Given the description of an element on the screen output the (x, y) to click on. 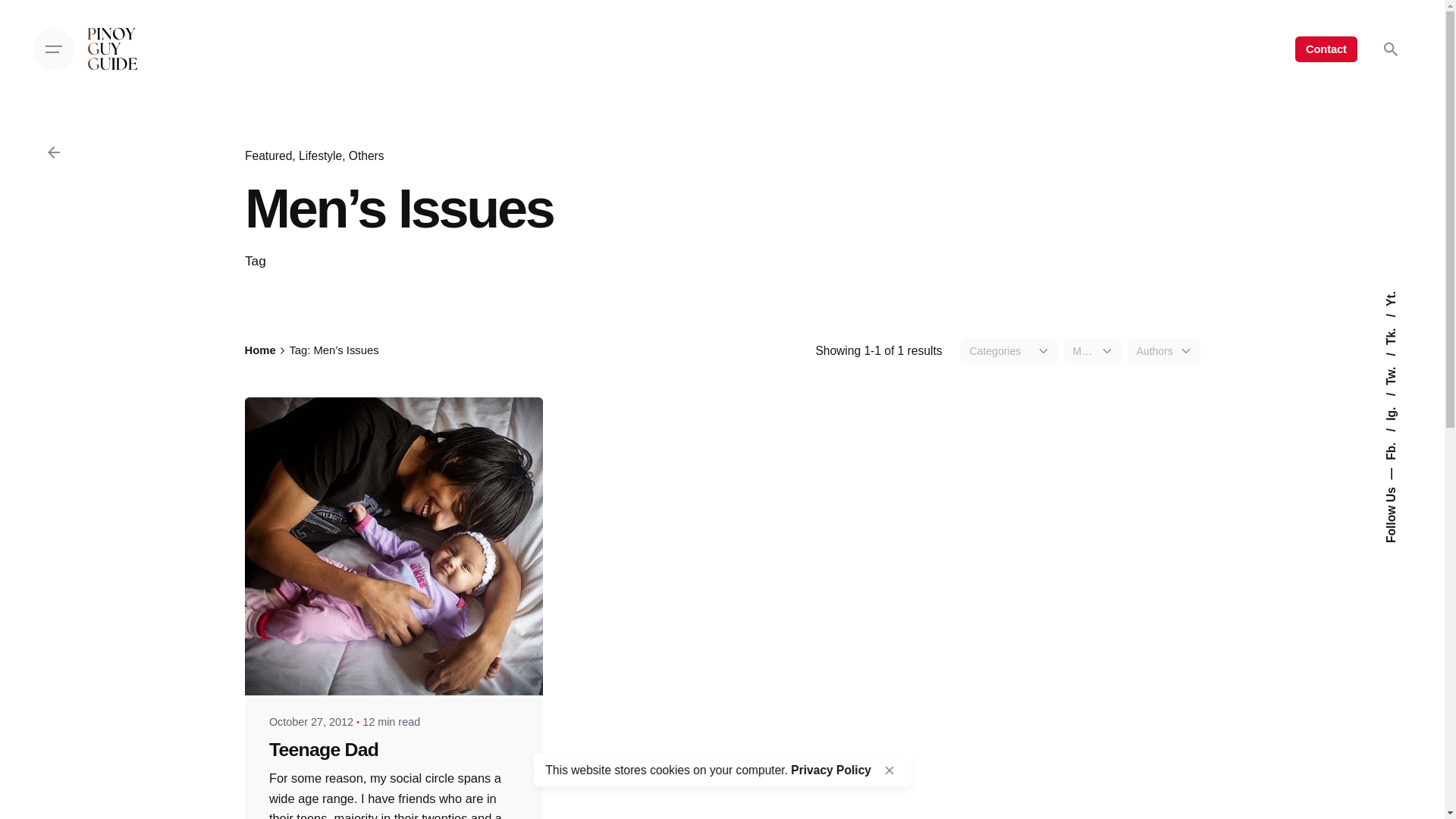
Fb. (1399, 434)
Yt. (1391, 297)
Ig. (1398, 399)
Contact (1325, 49)
Tk. (1399, 319)
Tw. (1400, 358)
